Given the description of an element on the screen output the (x, y) to click on. 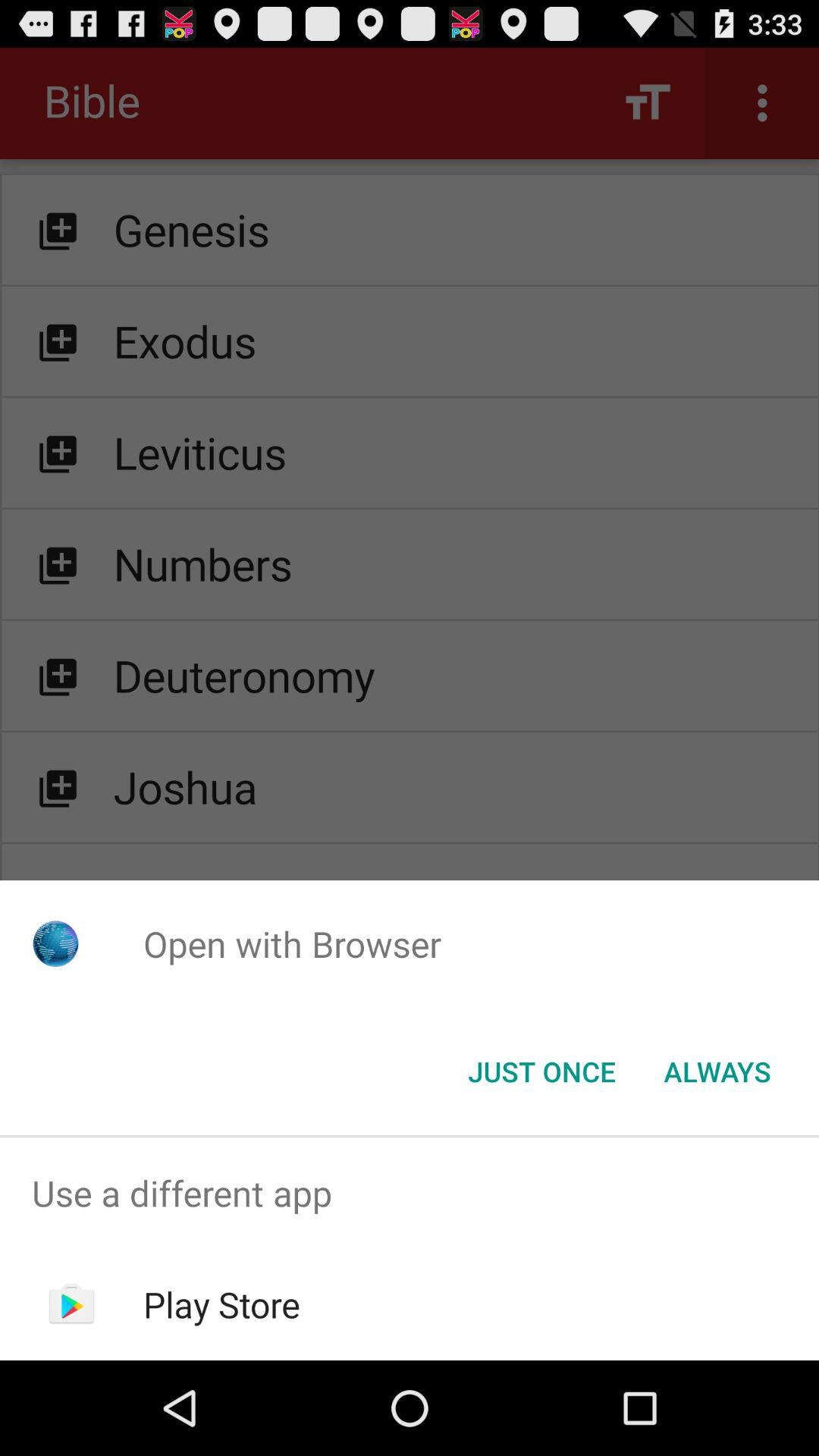
launch always button (717, 1071)
